Given the description of an element on the screen output the (x, y) to click on. 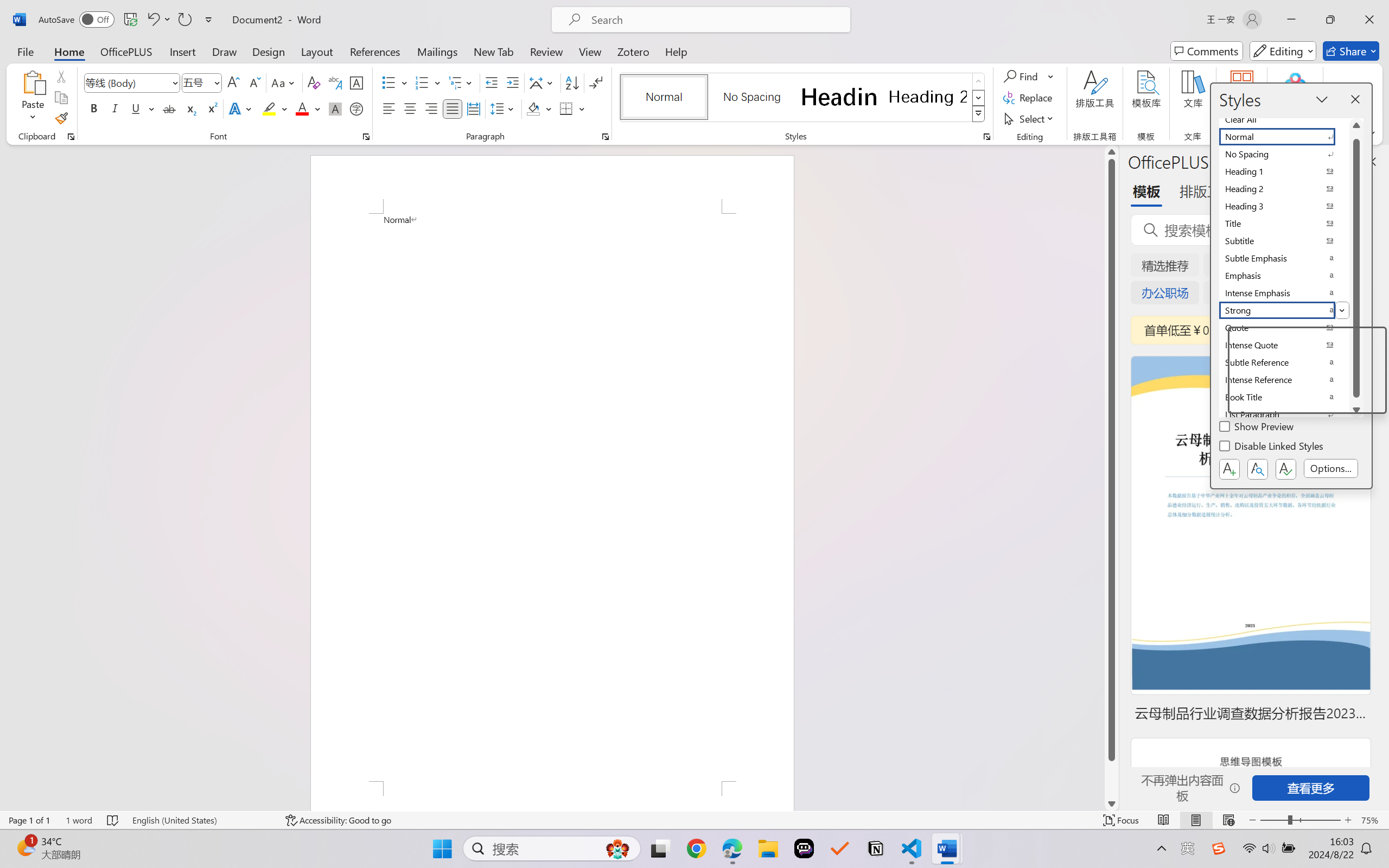
OfficePLUS (126, 51)
Decrease Indent (491, 82)
Cut (60, 75)
Enclose Characters... (356, 108)
Format Painter (60, 118)
Borders (571, 108)
Font Color Red (302, 108)
Undo Apply Quick Style (152, 19)
Character Shading (334, 108)
Quick Access Toolbar (127, 19)
Paste (33, 81)
